Given the description of an element on the screen output the (x, y) to click on. 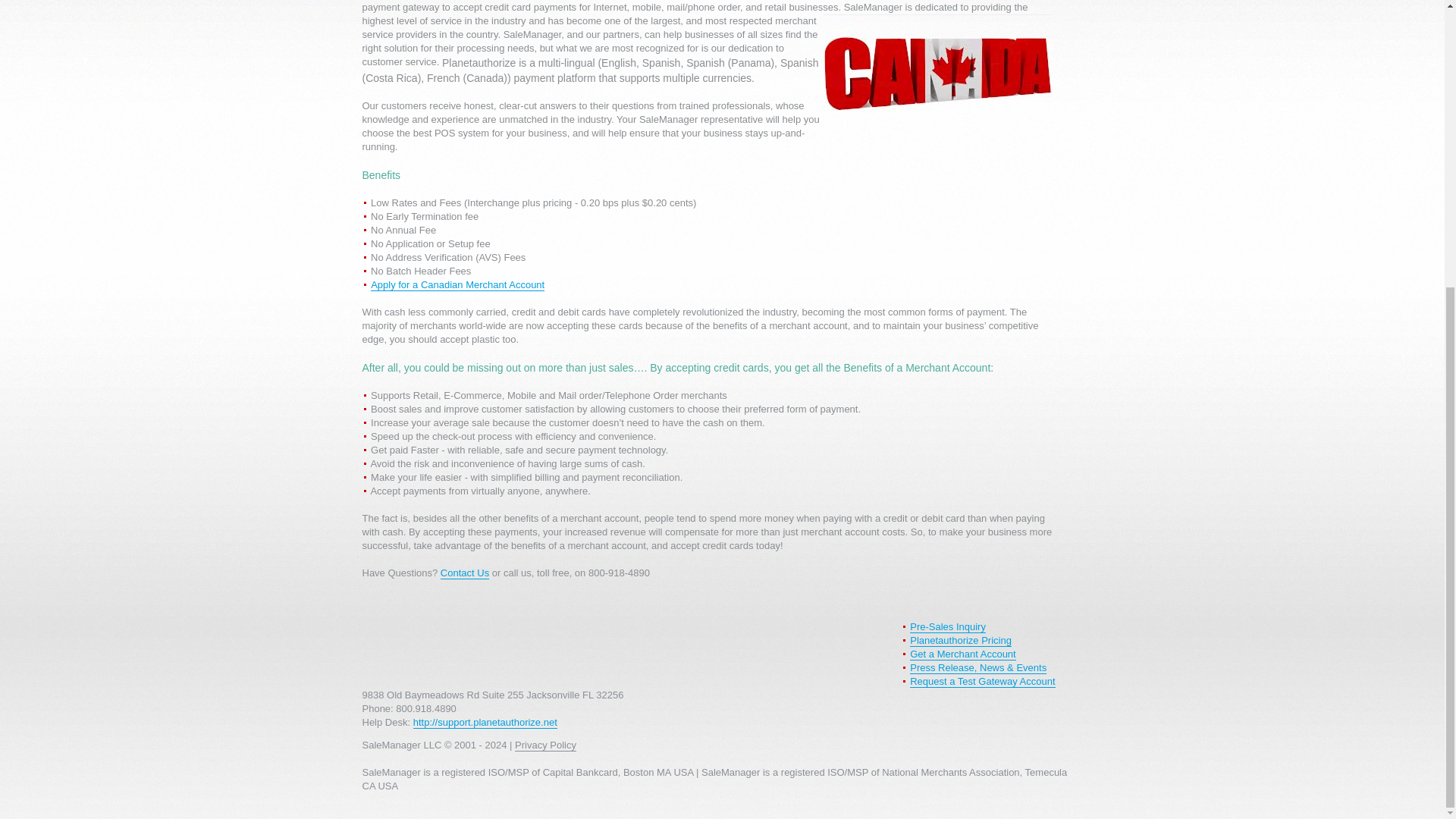
Request a Test Gateway Account (982, 681)
Contact Us (465, 573)
Get a Merchant Account (962, 654)
Planetauthorize Pricing (960, 640)
Apply for a Canadian Merchant Account (457, 285)
Pre-Sales Inquiry (947, 626)
Privacy Policy (545, 745)
